Given the description of an element on the screen output the (x, y) to click on. 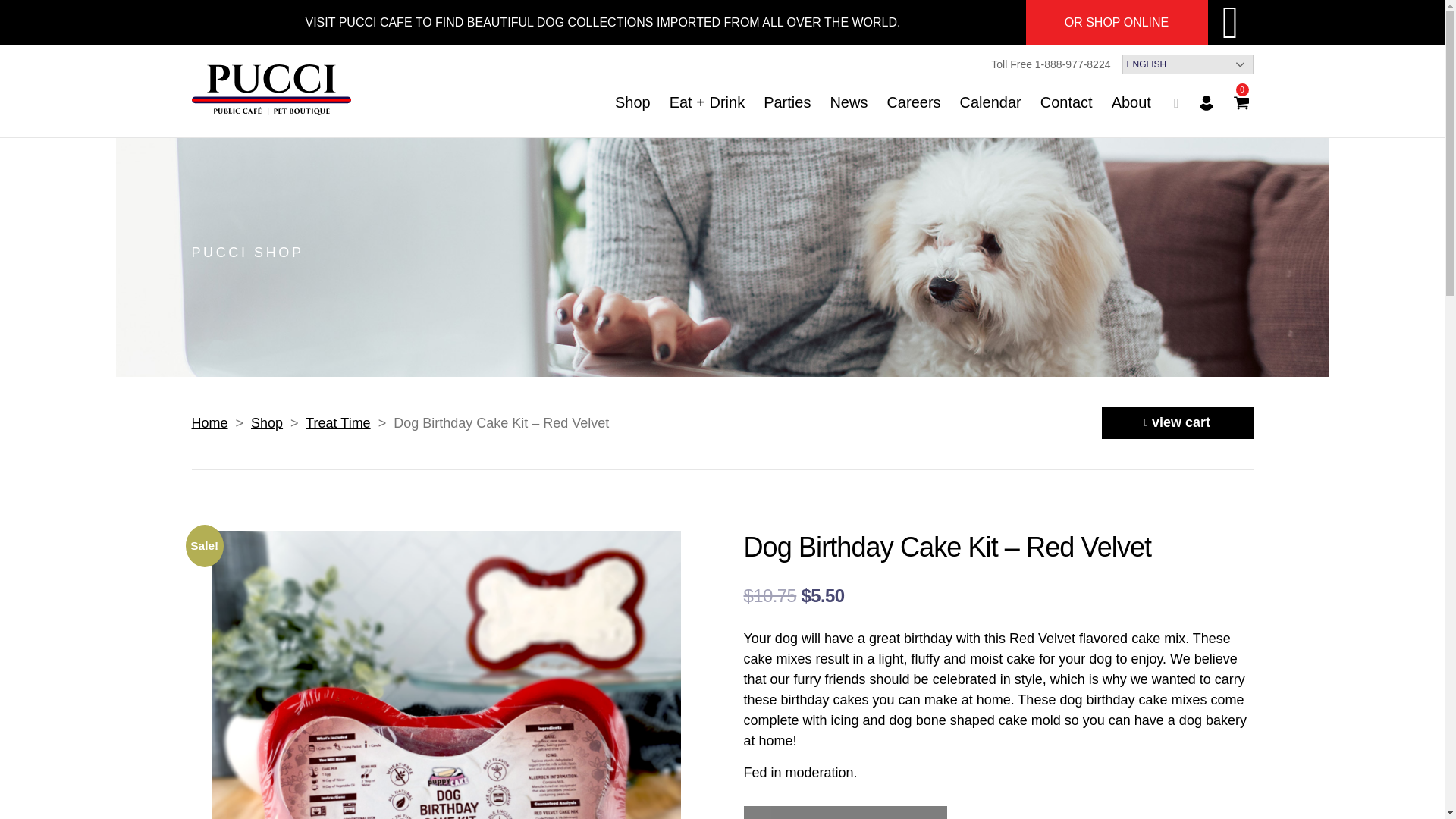
OR SHOP ONLINE (1116, 22)
ENGLISH (1187, 64)
